Given the description of an element on the screen output the (x, y) to click on. 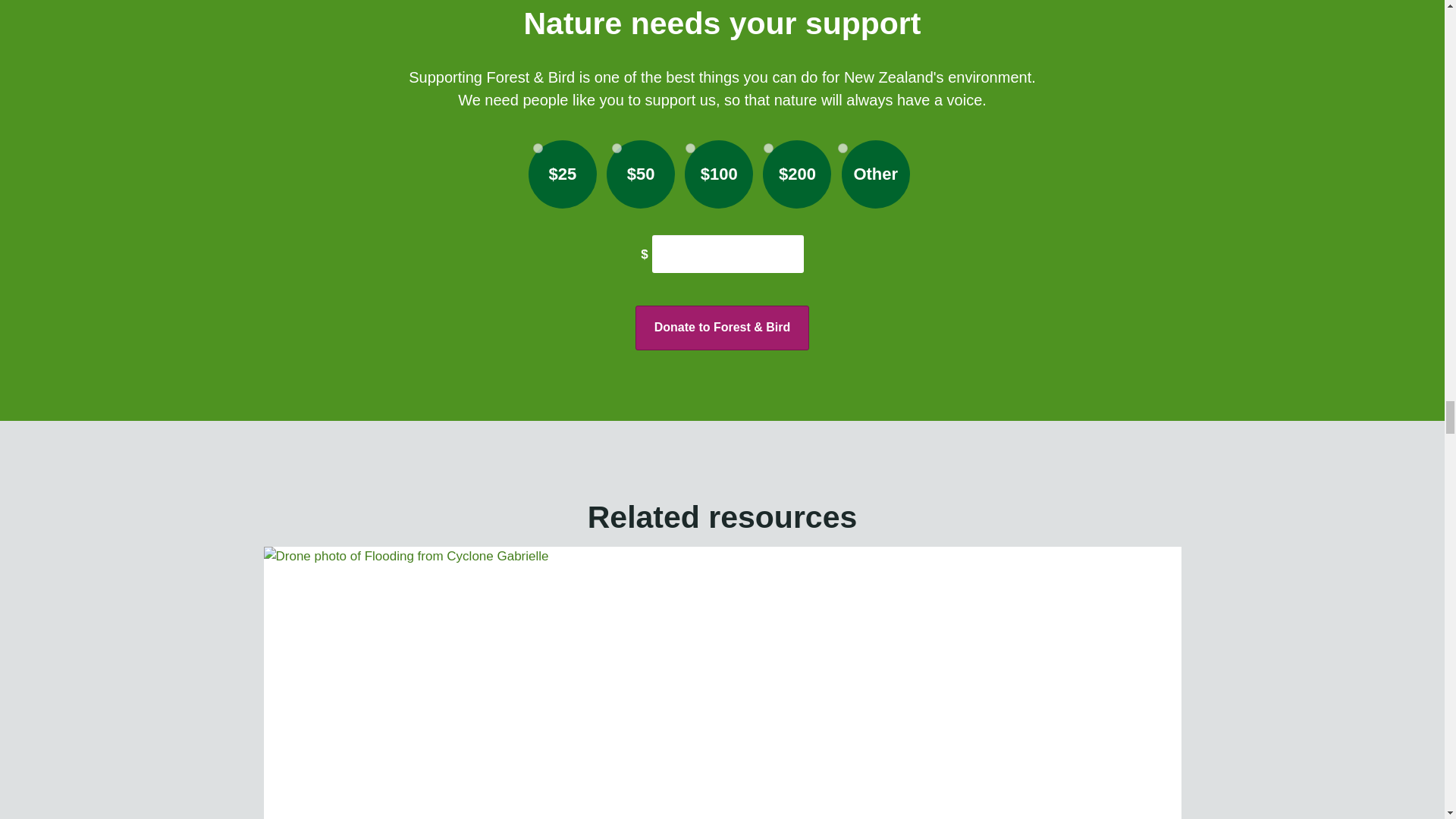
50 (616, 148)
200 (767, 148)
25 (537, 148)
100 (690, 148)
